Given the description of an element on the screen output the (x, y) to click on. 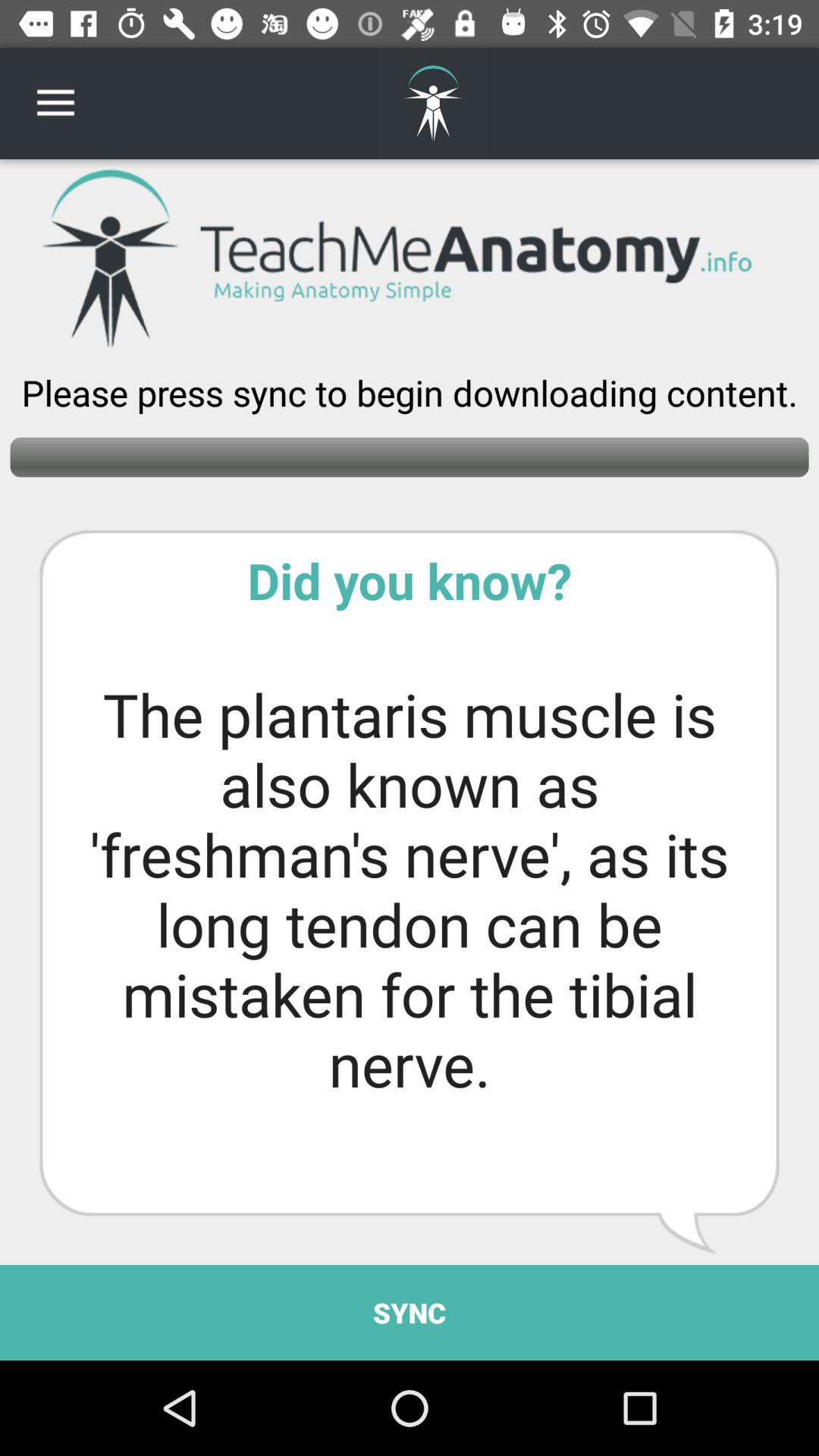
turn on item at the top left corner (55, 103)
